Given the description of an element on the screen output the (x, y) to click on. 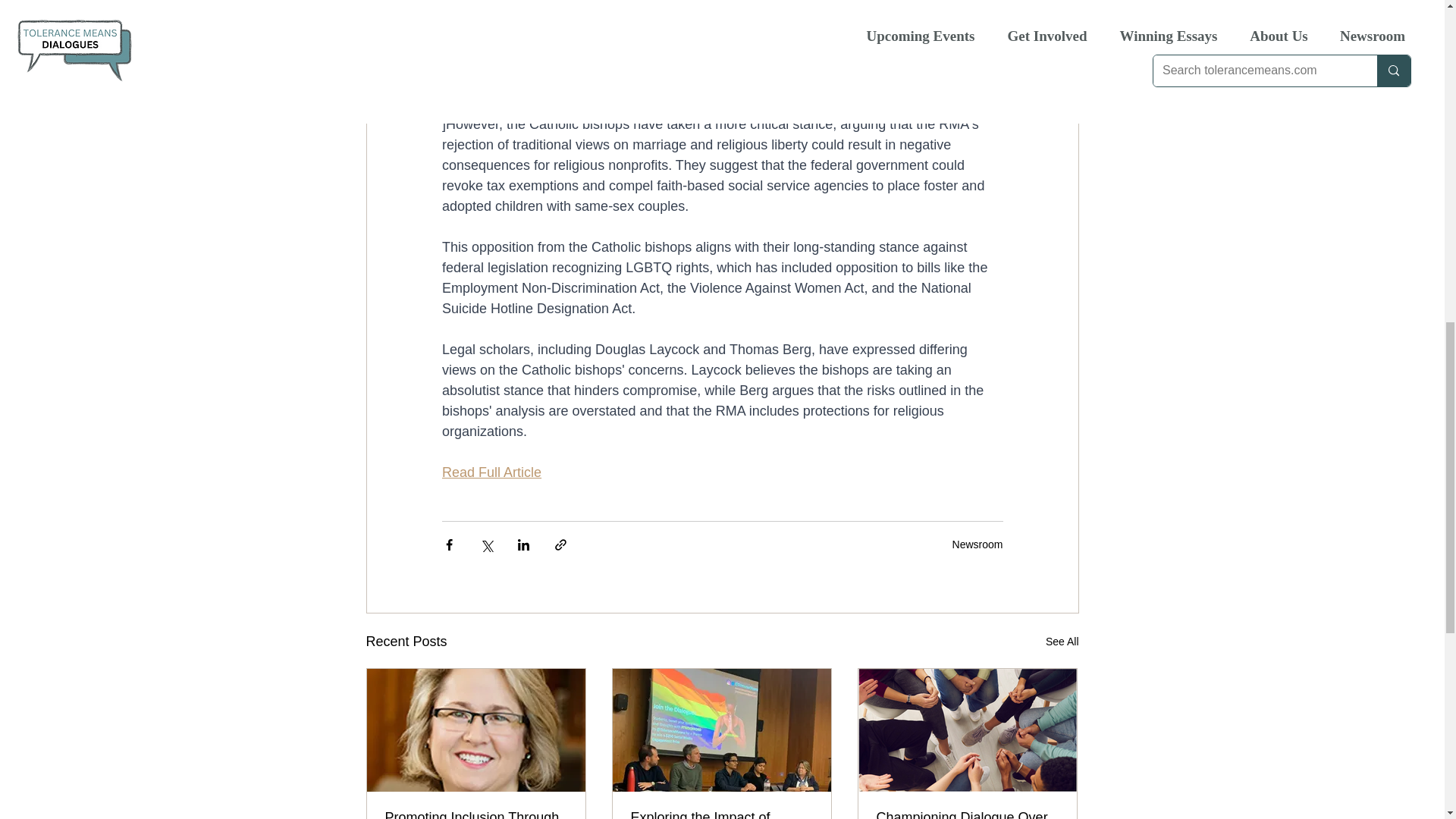
Read Full Article (490, 472)
See All (1061, 641)
Newsroom (977, 544)
Championing Dialogue Over Cancel Culture (967, 814)
